Given the description of an element on the screen output the (x, y) to click on. 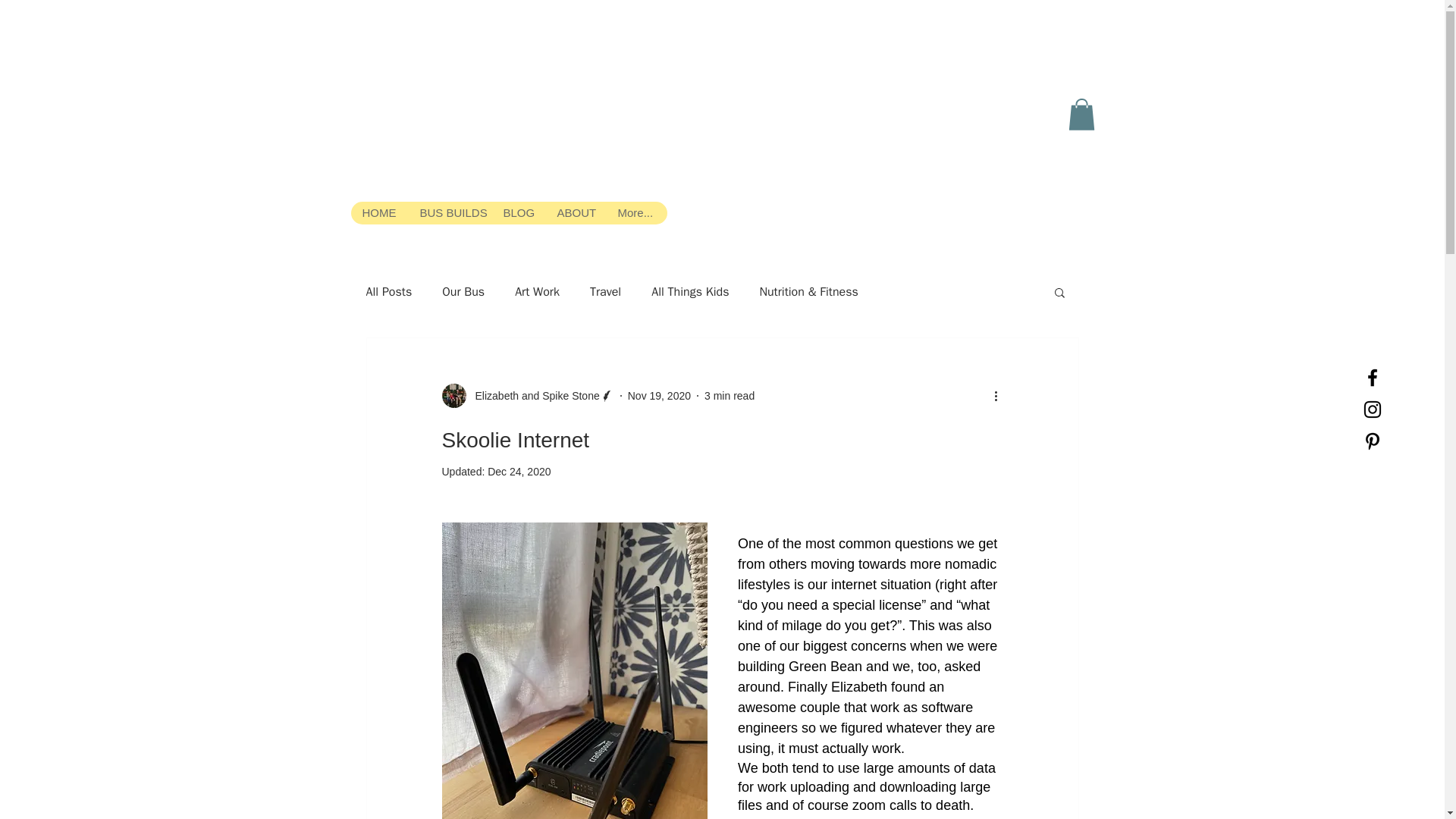
Art Work (537, 291)
All Things Kids (689, 291)
Travel (605, 291)
Nov 19, 2020 (658, 395)
Elizabeth and Spike Stone (526, 395)
Our Bus (463, 291)
Elizabeth and Spike Stone (531, 396)
All Posts (388, 291)
BLOG (518, 212)
BUS BUILDS (449, 212)
3 min read (729, 395)
Dec 24, 2020 (518, 471)
ABOUT (574, 212)
HOME (378, 212)
